Given the description of an element on the screen output the (x, y) to click on. 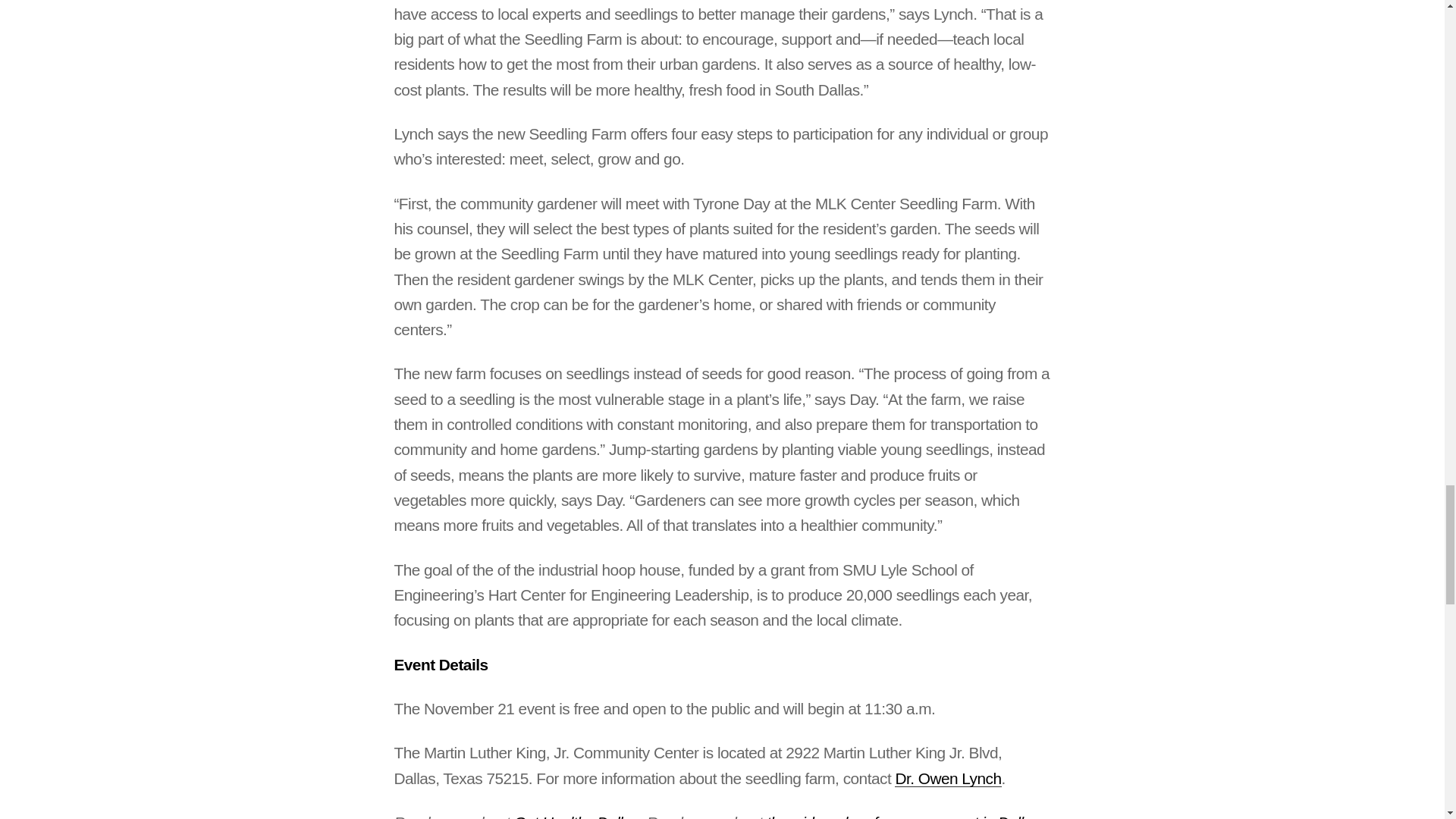
the wider urban farm movement in Dallas (903, 816)
Dr. Owen Lynch (948, 778)
Get Healthy Dallas (576, 816)
